Given the description of an element on the screen output the (x, y) to click on. 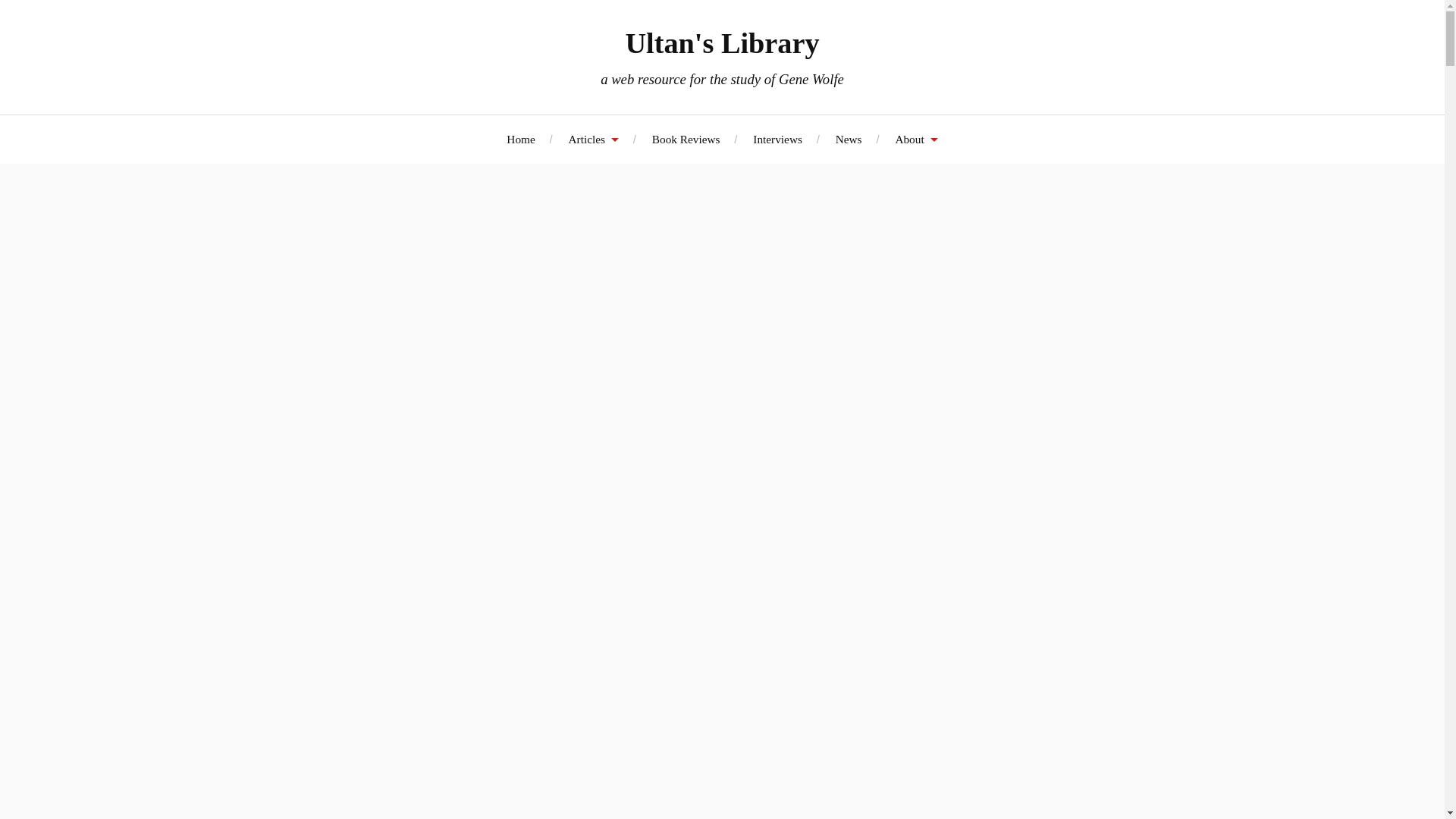
Articles (593, 138)
Interviews (777, 138)
Book Reviews (686, 138)
Ultan's Library (721, 42)
About (916, 138)
